Given the description of an element on the screen output the (x, y) to click on. 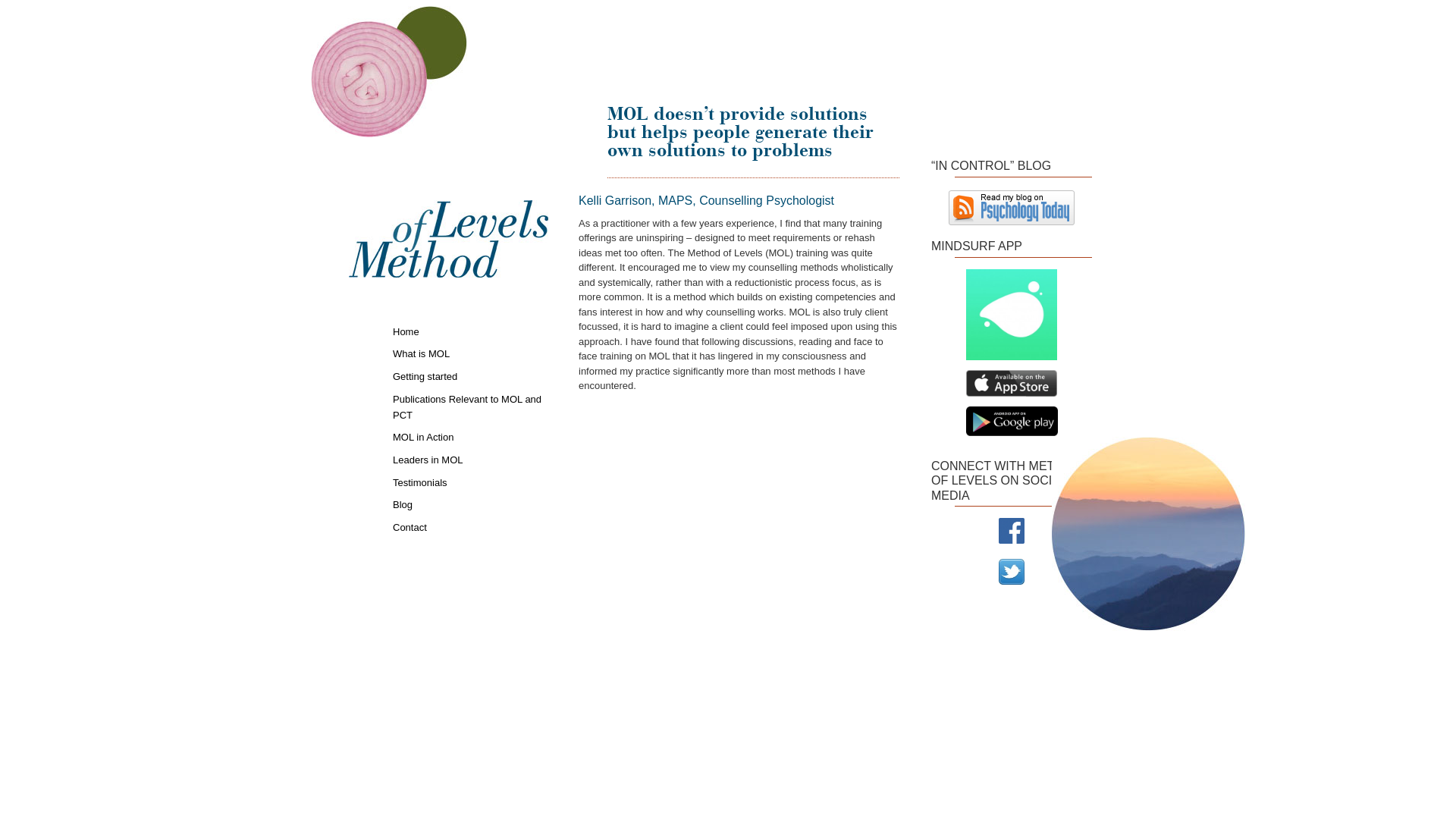
MOL in Action Element type: text (470, 435)
What is MOL Element type: text (470, 352)
Publications Relevant to MOL and PCT Element type: text (470, 406)
Contact Element type: text (470, 526)
Testimonials Element type: text (470, 481)
Home Element type: text (470, 330)
Getting started Element type: text (470, 375)
Blog Element type: text (470, 503)
Leaders in MOL Element type: text (470, 458)
